Given the description of an element on the screen output the (x, y) to click on. 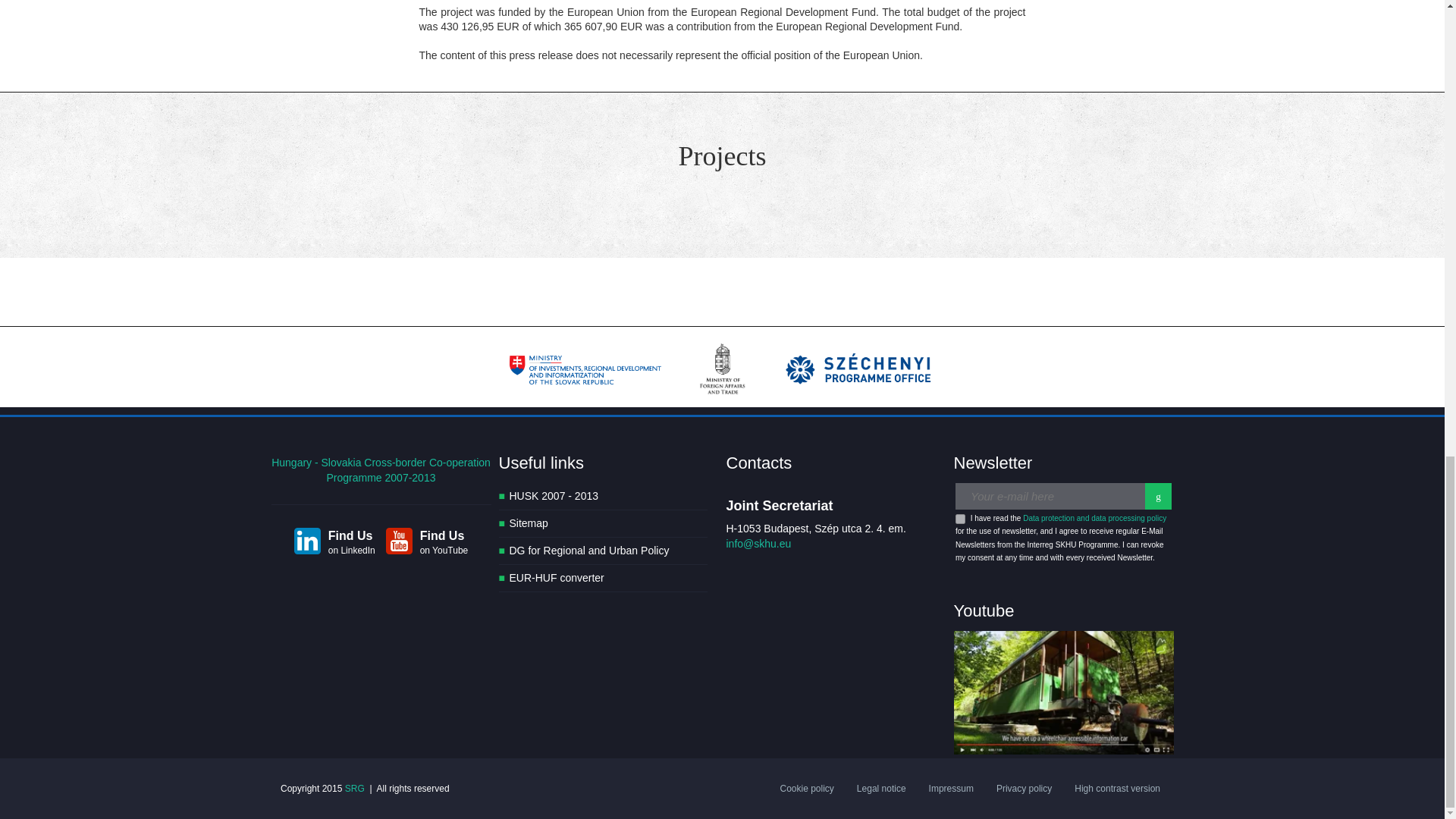
1 (960, 519)
